Given the description of an element on the screen output the (x, y) to click on. 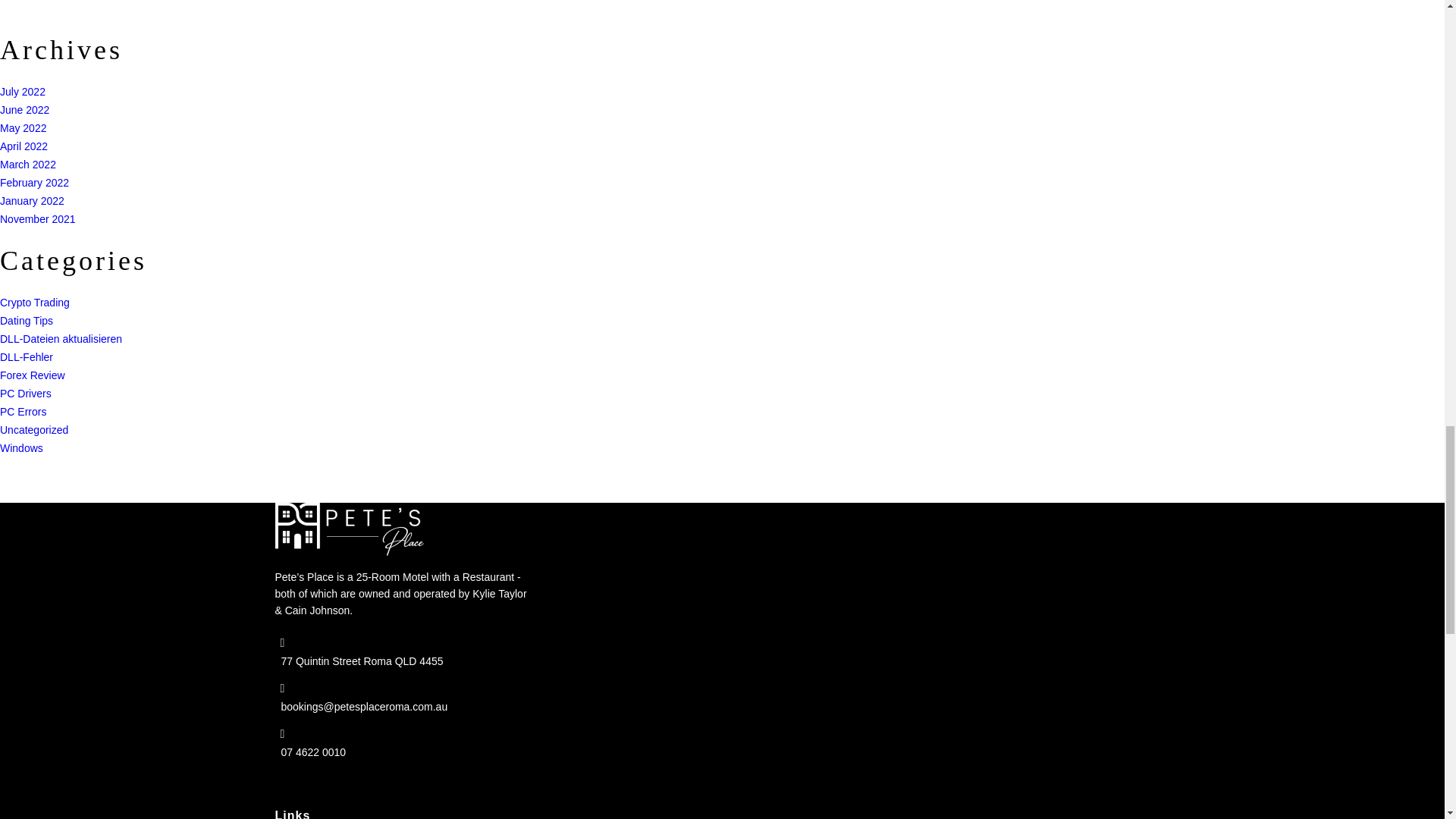
Dating Tips (26, 320)
January 2022 (32, 201)
February 2022 (34, 182)
June 2022 (24, 110)
Forex Review (32, 375)
March 2022 (28, 164)
PC Errors (23, 411)
July 2022 (22, 91)
Crypto Trading (34, 302)
May 2022 (23, 128)
PC Drivers (25, 393)
DLL-Dateien aktualisieren (61, 338)
April 2022 (24, 146)
DLL-Fehler (26, 356)
